Given the description of an element on the screen output the (x, y) to click on. 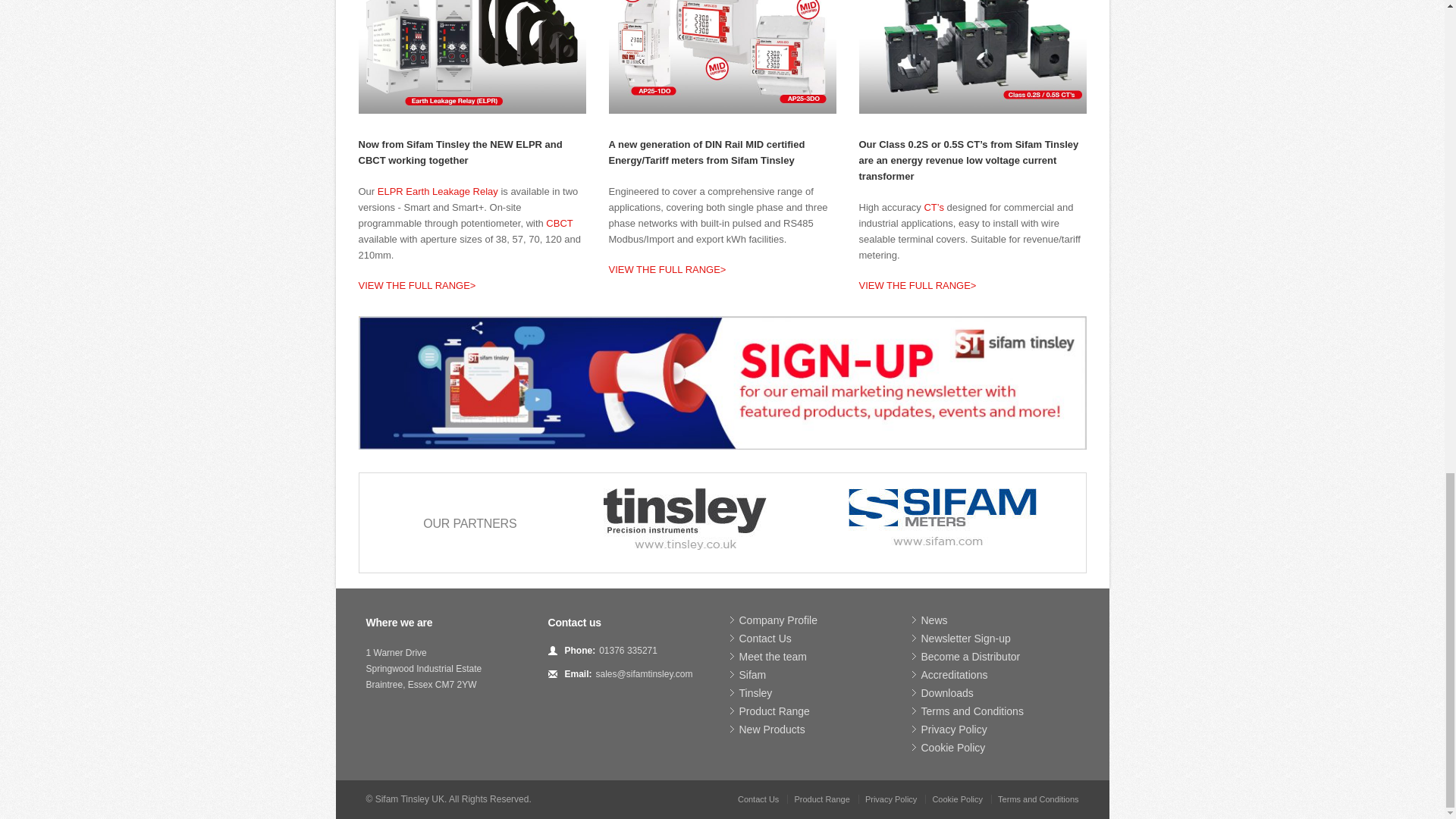
AP25-range (721, 56)
sifam (942, 516)
Sign-up for our newsletter (722, 382)
ELPR-and-CBCT (471, 56)
Omega XMER Class 0.2S (972, 56)
tinsley (685, 518)
